Given the description of an element on the screen output the (x, y) to click on. 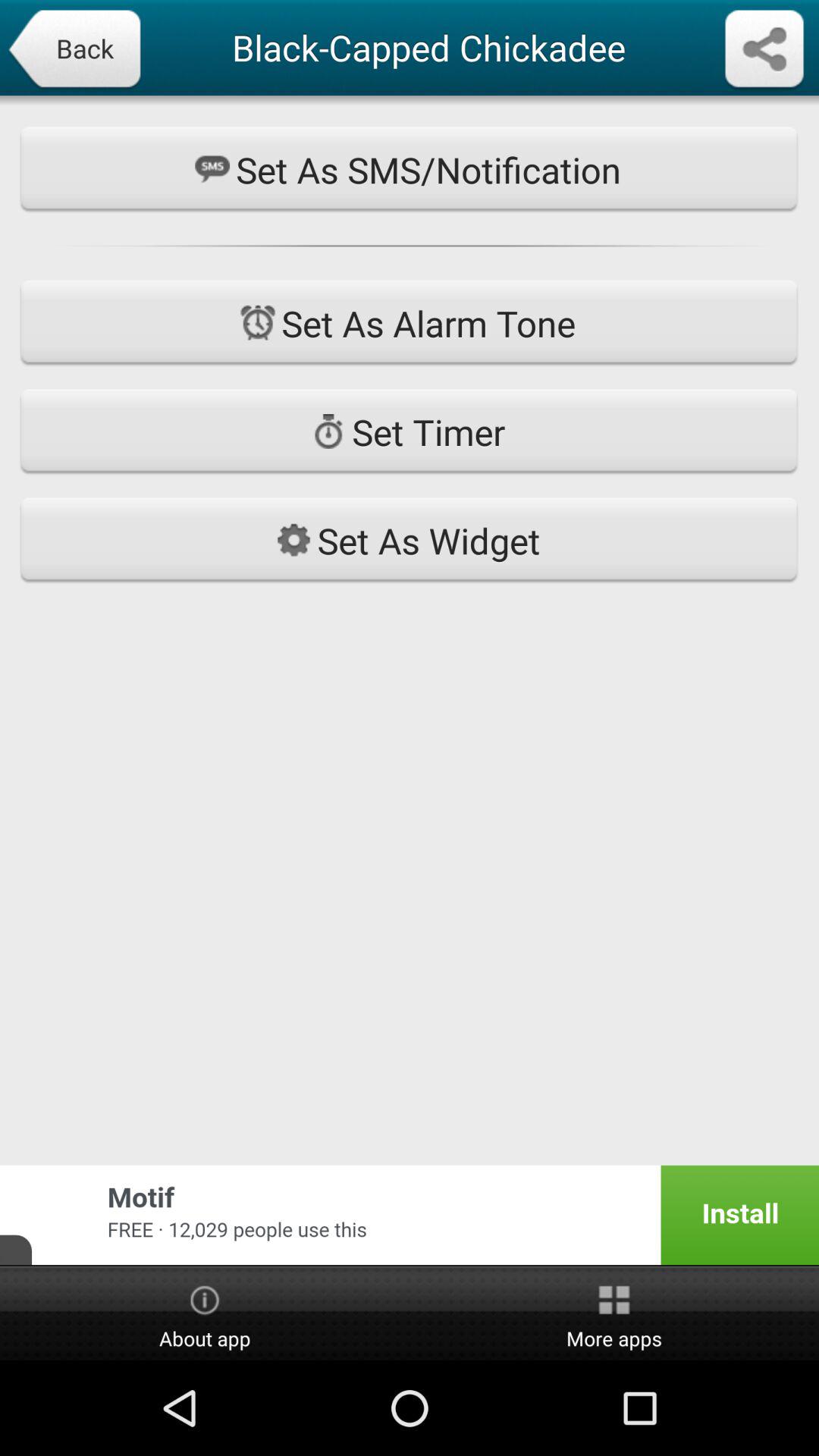
tap the app below set as widget app (409, 1214)
